Given the description of an element on the screen output the (x, y) to click on. 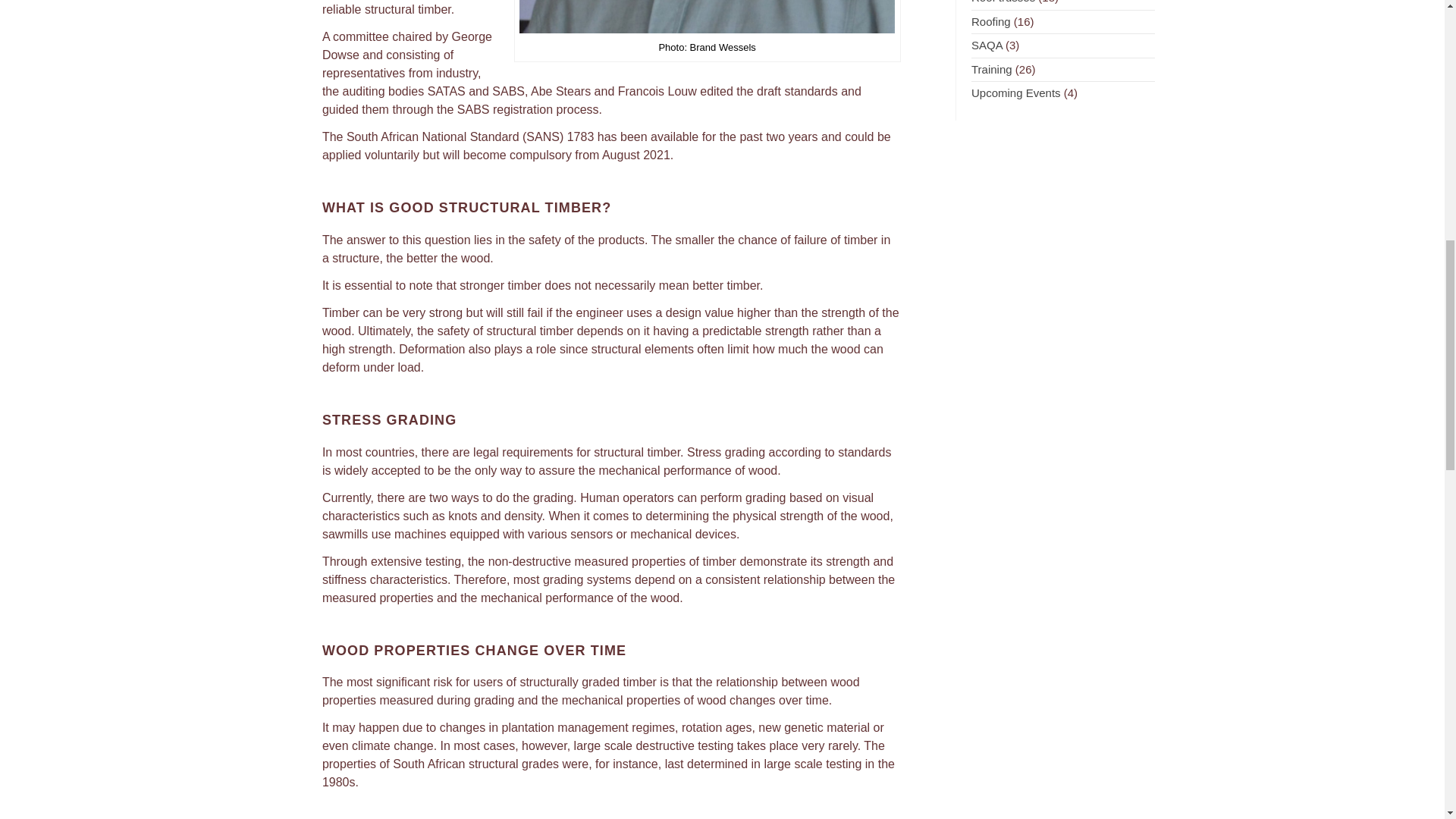
SAQA (987, 44)
Roof trusses (1003, 2)
Roofing (990, 21)
